Given the description of an element on the screen output the (x, y) to click on. 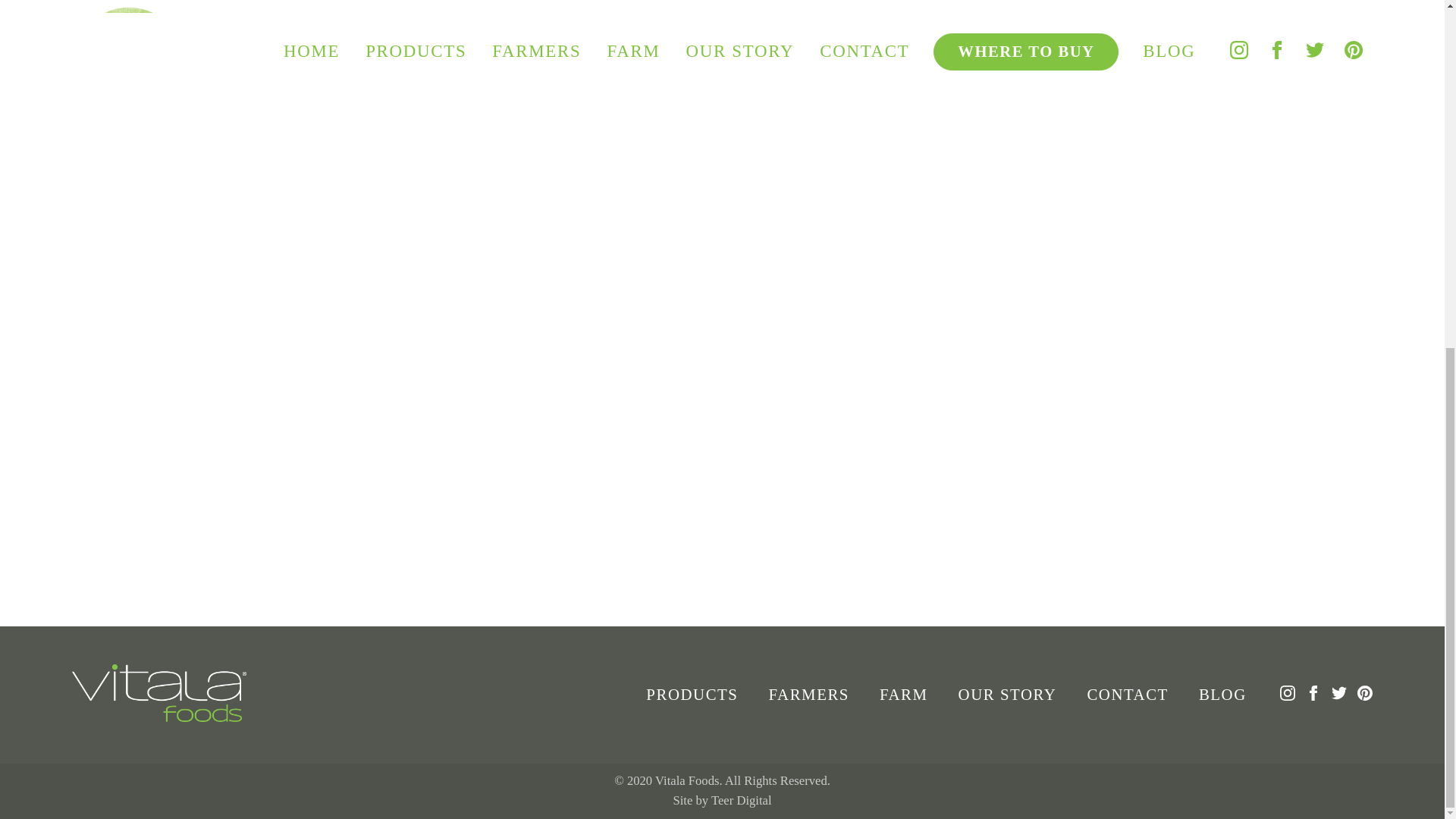
BLOG (1222, 693)
Teer Digital (741, 800)
FARMERS (808, 693)
CONTACT (1126, 693)
OUR STORY (1007, 693)
FARM (903, 693)
PRODUCTS (692, 693)
